Given the description of an element on the screen output the (x, y) to click on. 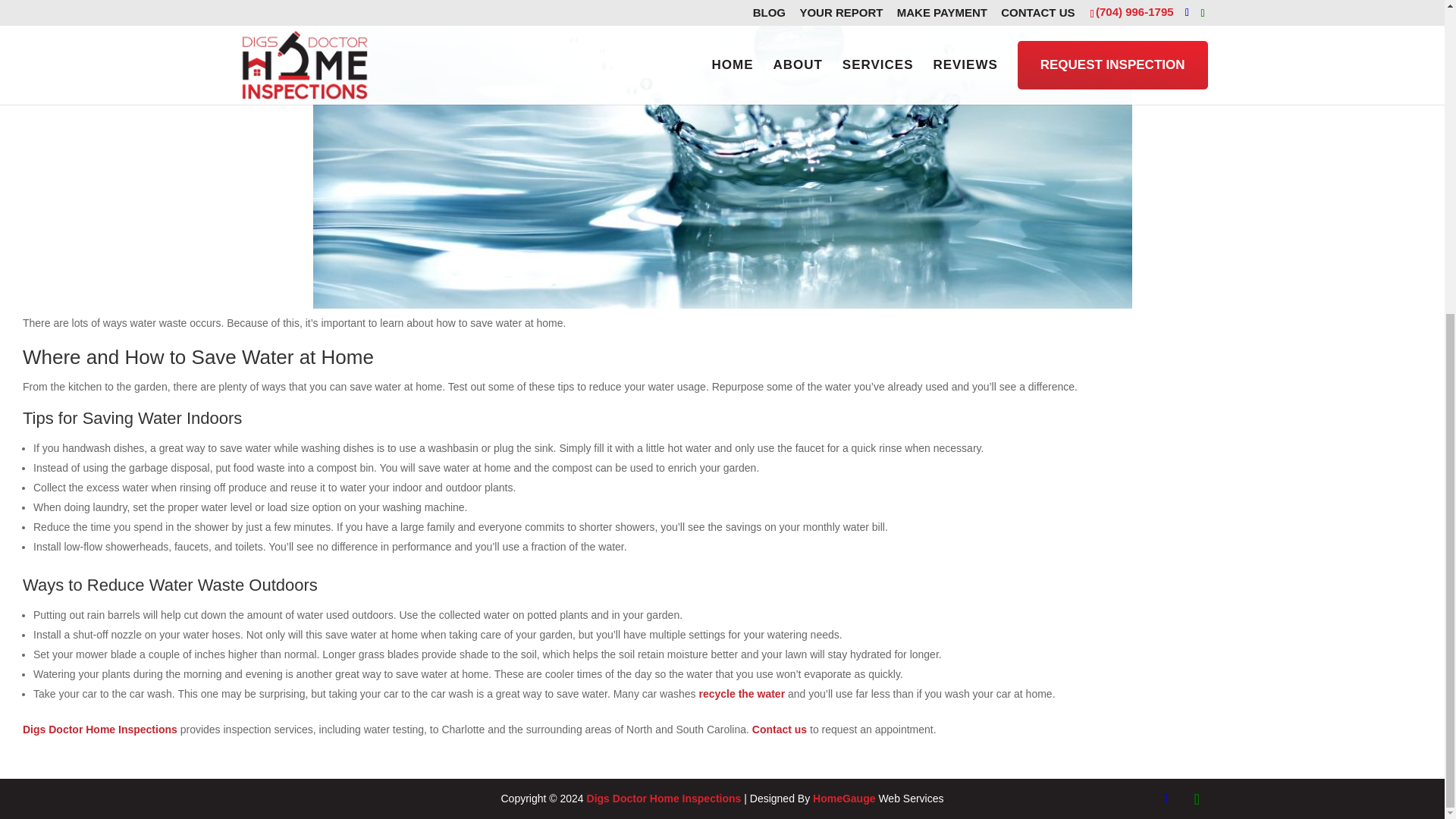
recycle the water (741, 693)
Digs Doctor Home Inspections (100, 729)
Contact us (779, 729)
Digs Doctor Home Inspections (663, 798)
HomeGauge (843, 798)
